Given the description of an element on the screen output the (x, y) to click on. 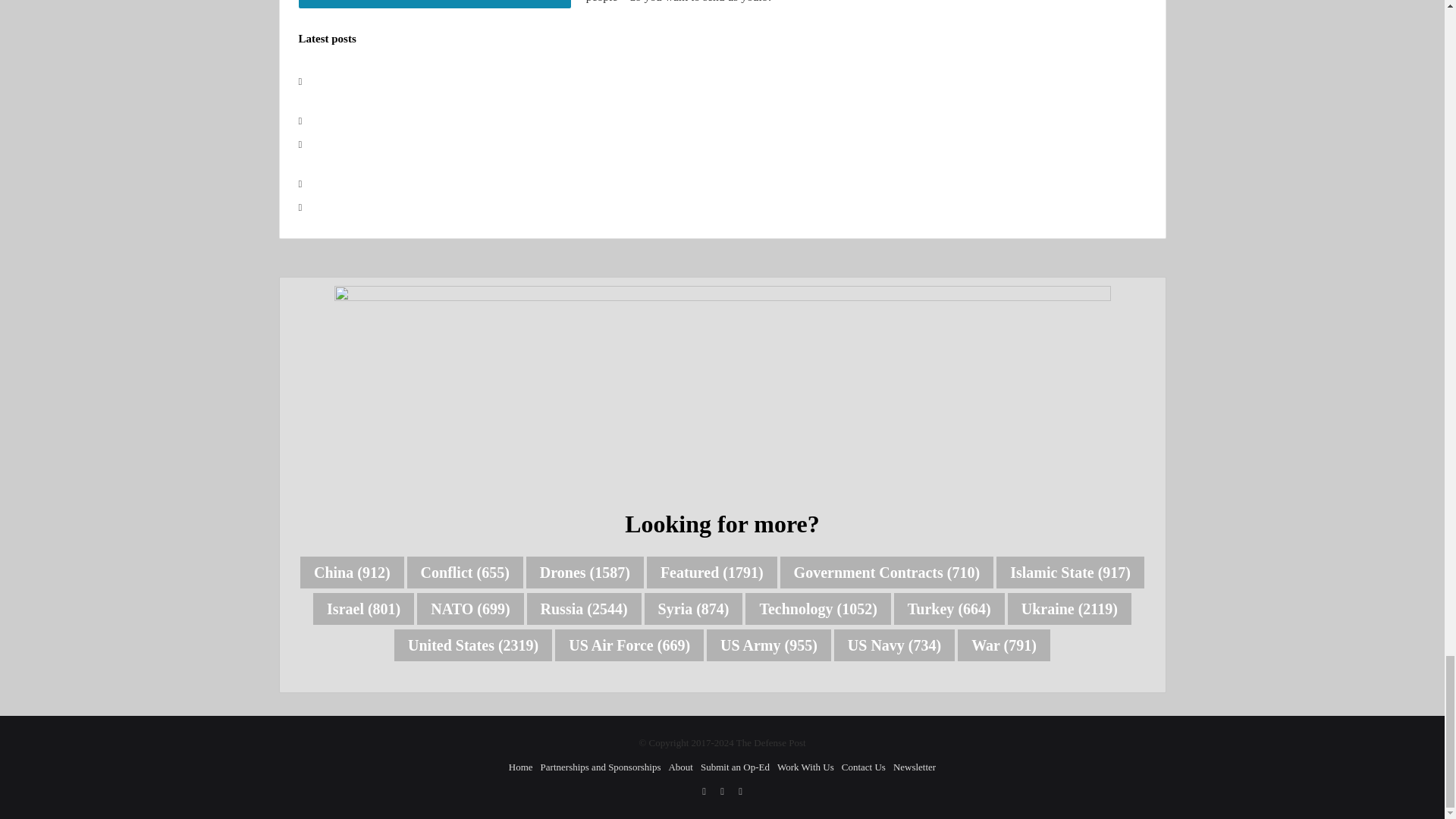
Subscribe (434, 4)
